Given the description of an element on the screen output the (x, y) to click on. 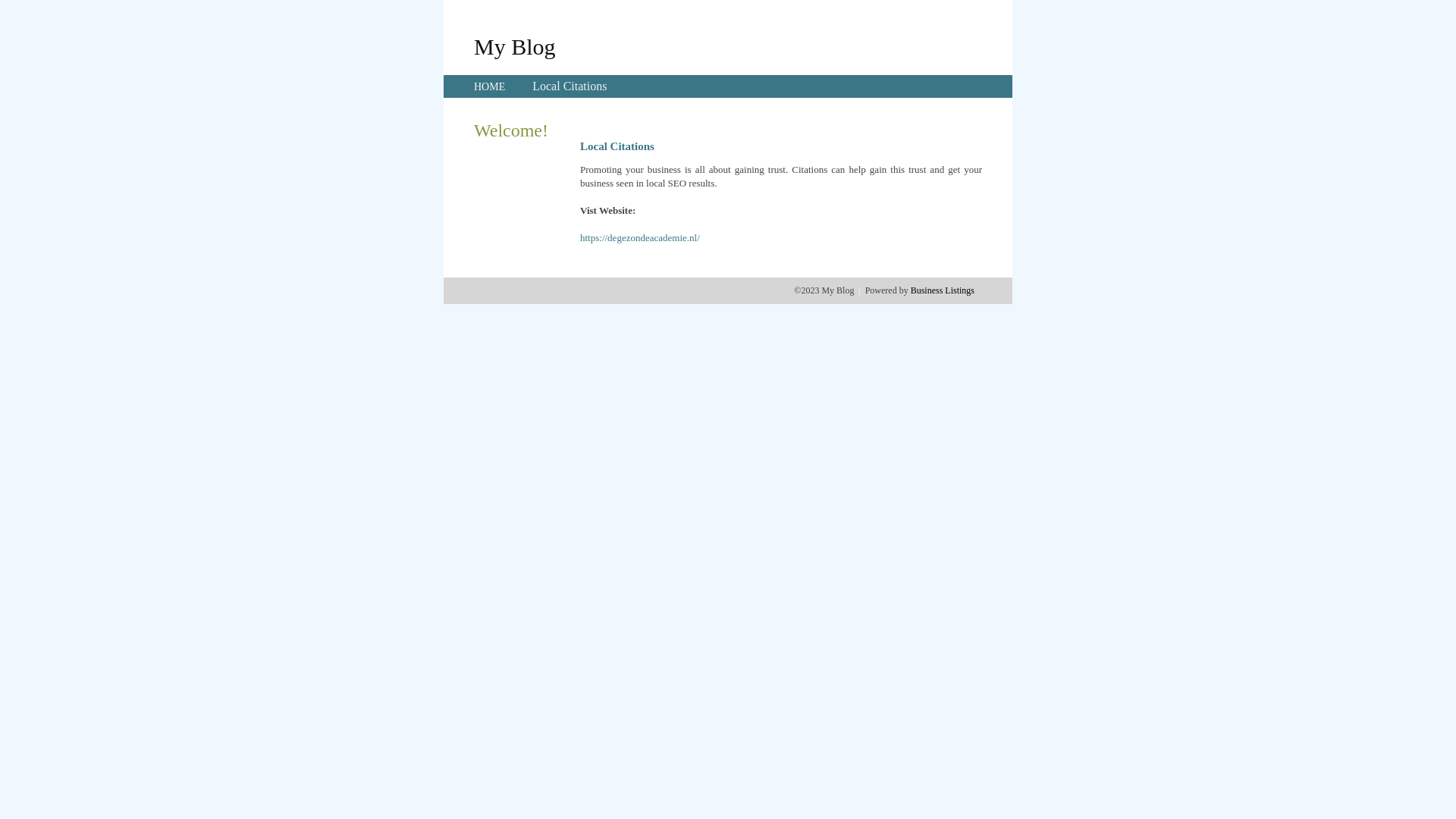
My Blog Element type: text (514, 46)
https://degezondeacademie.nl/ Element type: text (639, 237)
Local Citations Element type: text (569, 85)
HOME Element type: text (489, 86)
Business Listings Element type: text (942, 290)
